Given the description of an element on the screen output the (x, y) to click on. 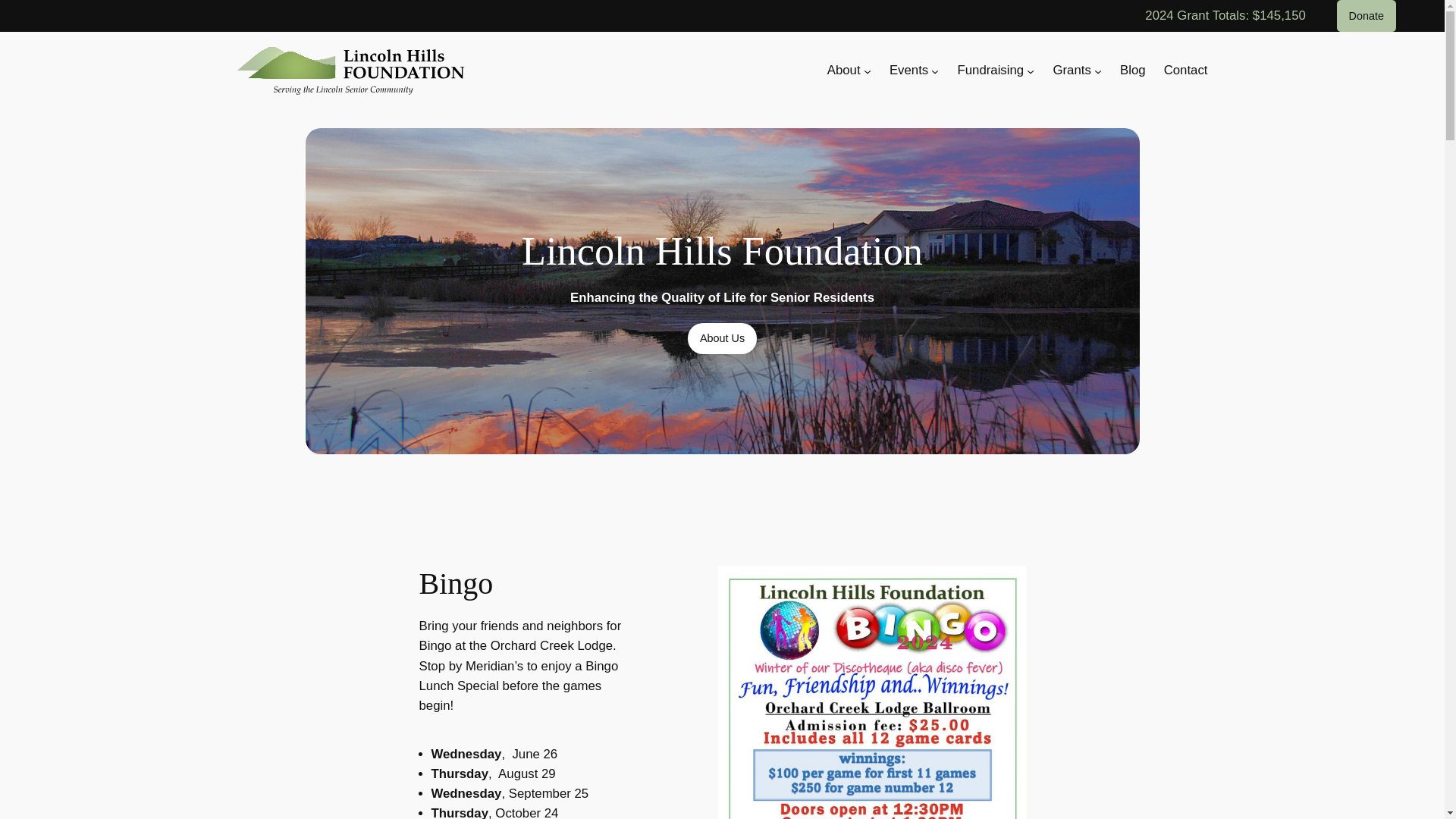
About (843, 70)
Blog (1132, 70)
Events (908, 70)
About Us (722, 338)
Grants (1071, 70)
Fundraising (989, 70)
Donate (1366, 15)
Contact (1185, 70)
